Given the description of an element on the screen output the (x, y) to click on. 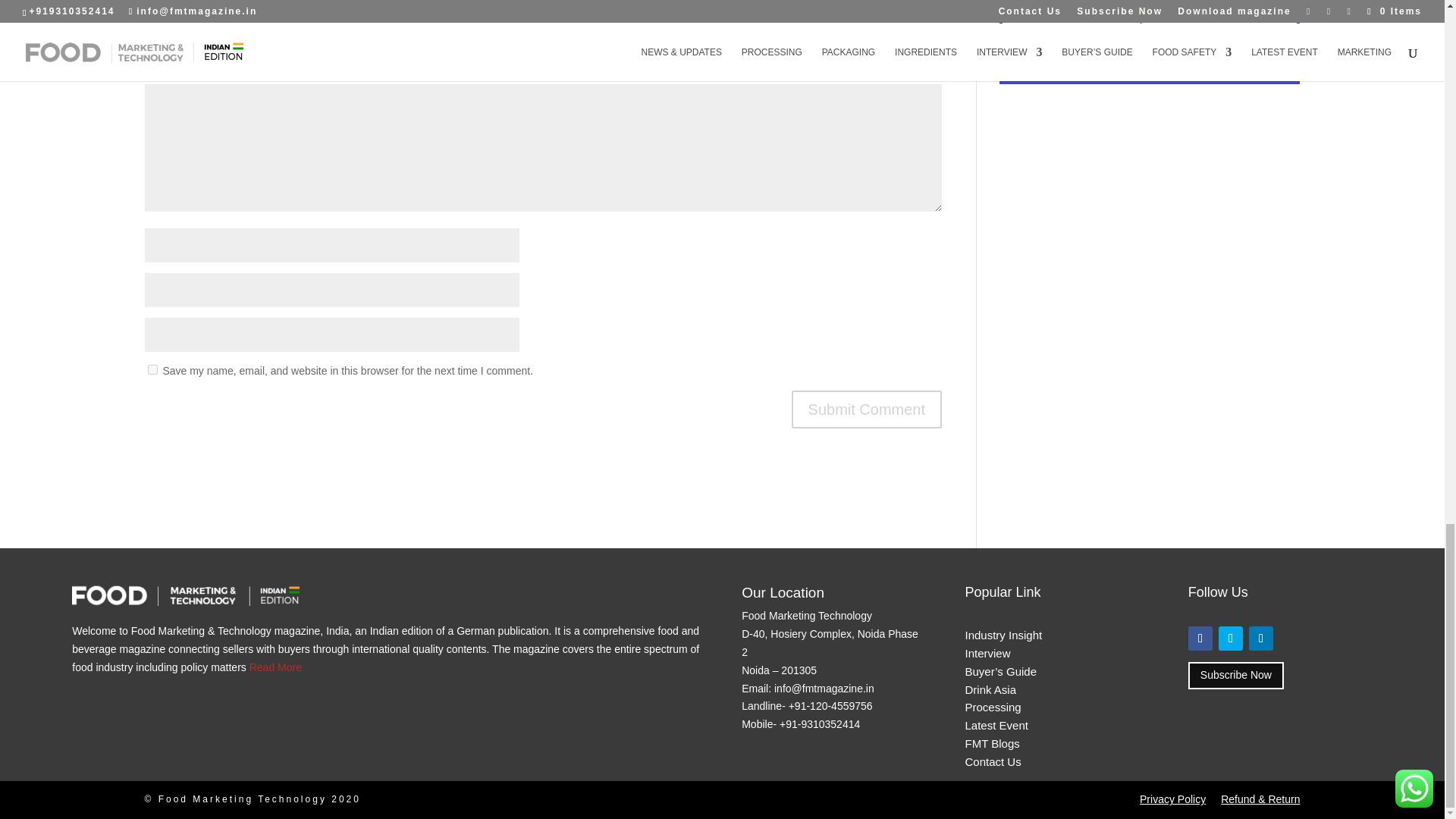
Submit Comment (867, 409)
yes (152, 369)
Follow on LinkedIn (1260, 638)
Follow on Facebook (1200, 638)
Follow on Twitter (1230, 638)
